Given the description of an element on the screen output the (x, y) to click on. 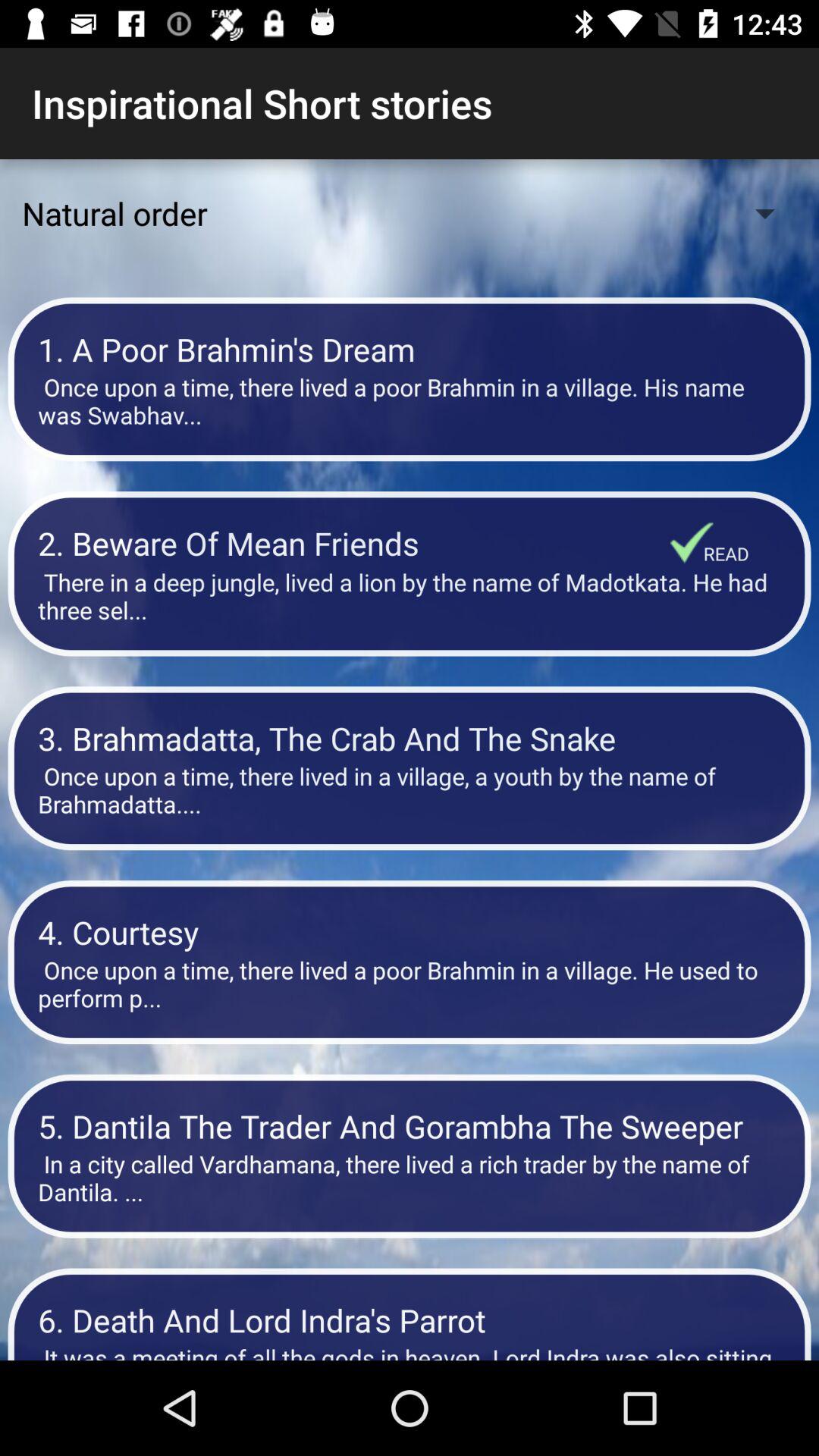
click the 6 death and icon (409, 1319)
